Given the description of an element on the screen output the (x, y) to click on. 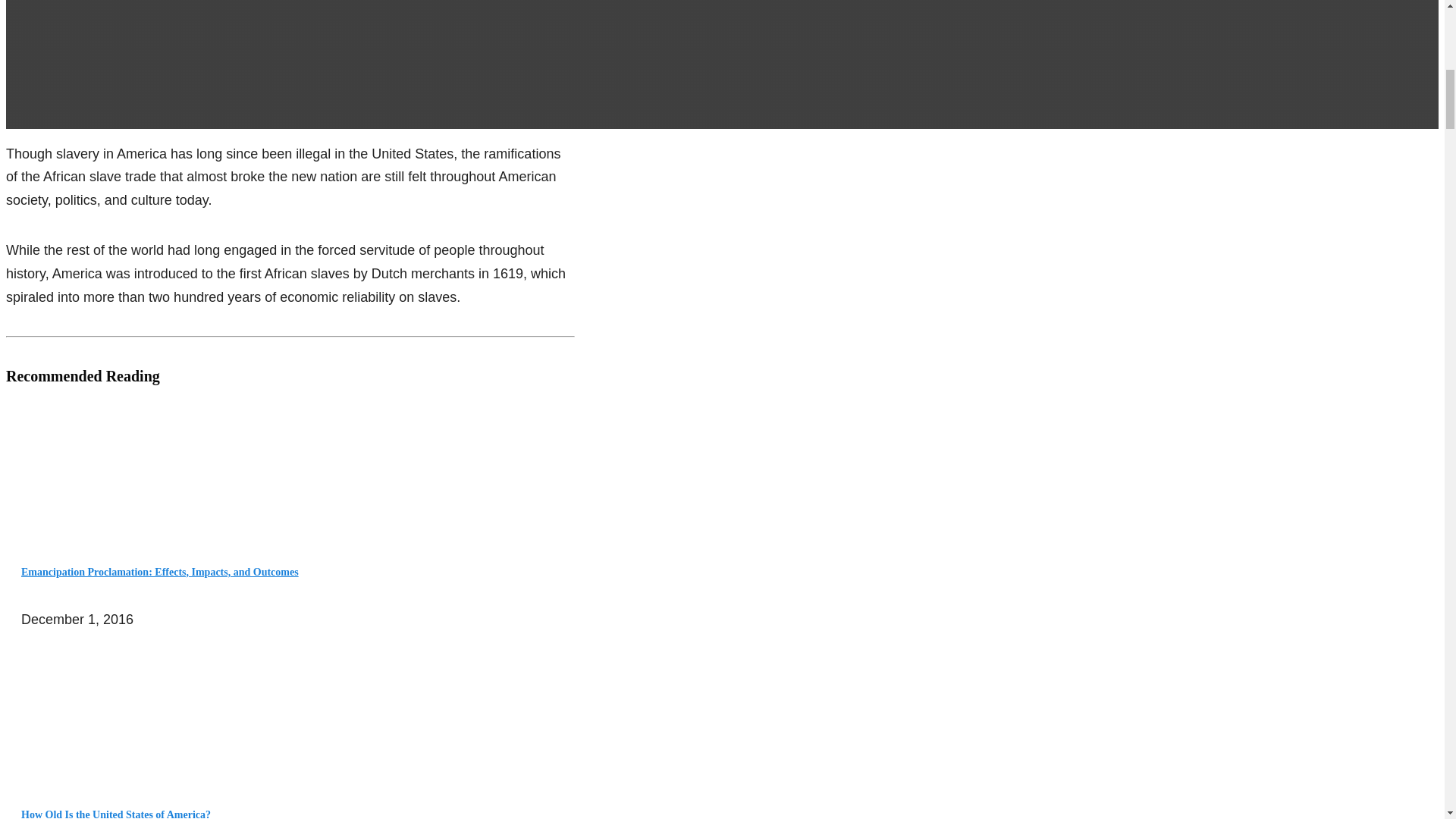
Slavery in America: United States' Black Mark 1 (62, 463)
Slavery in America: United States' Black Mark 2 (62, 706)
Emancipation Proclamation: Effects, Impacts, and Outcomes (159, 572)
